Given the description of an element on the screen output the (x, y) to click on. 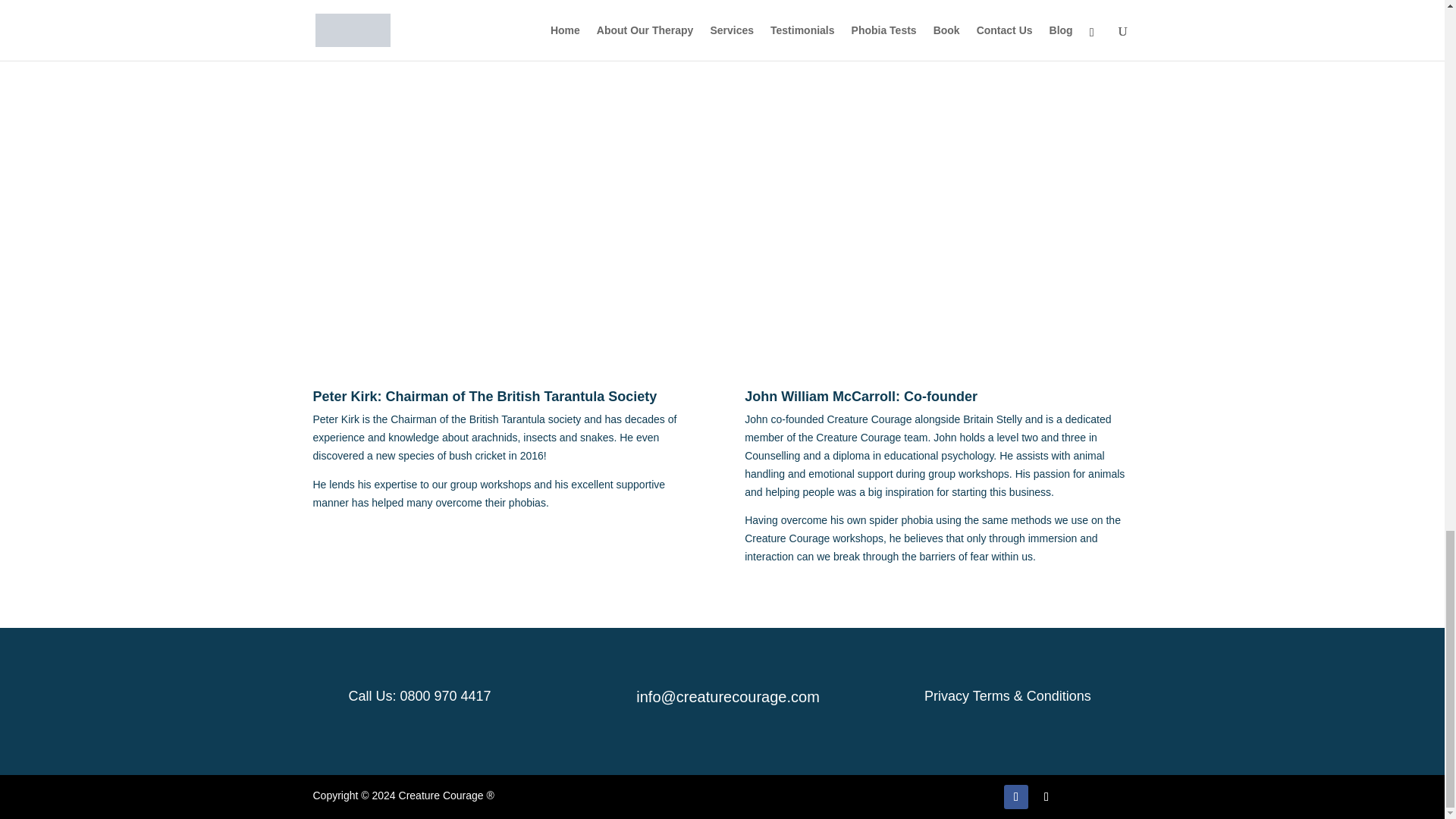
Follow on Facebook (1015, 796)
Follow on X (1045, 796)
Adam Cox Creature Courage Intro (722, 26)
